Given the description of an element on the screen output the (x, y) to click on. 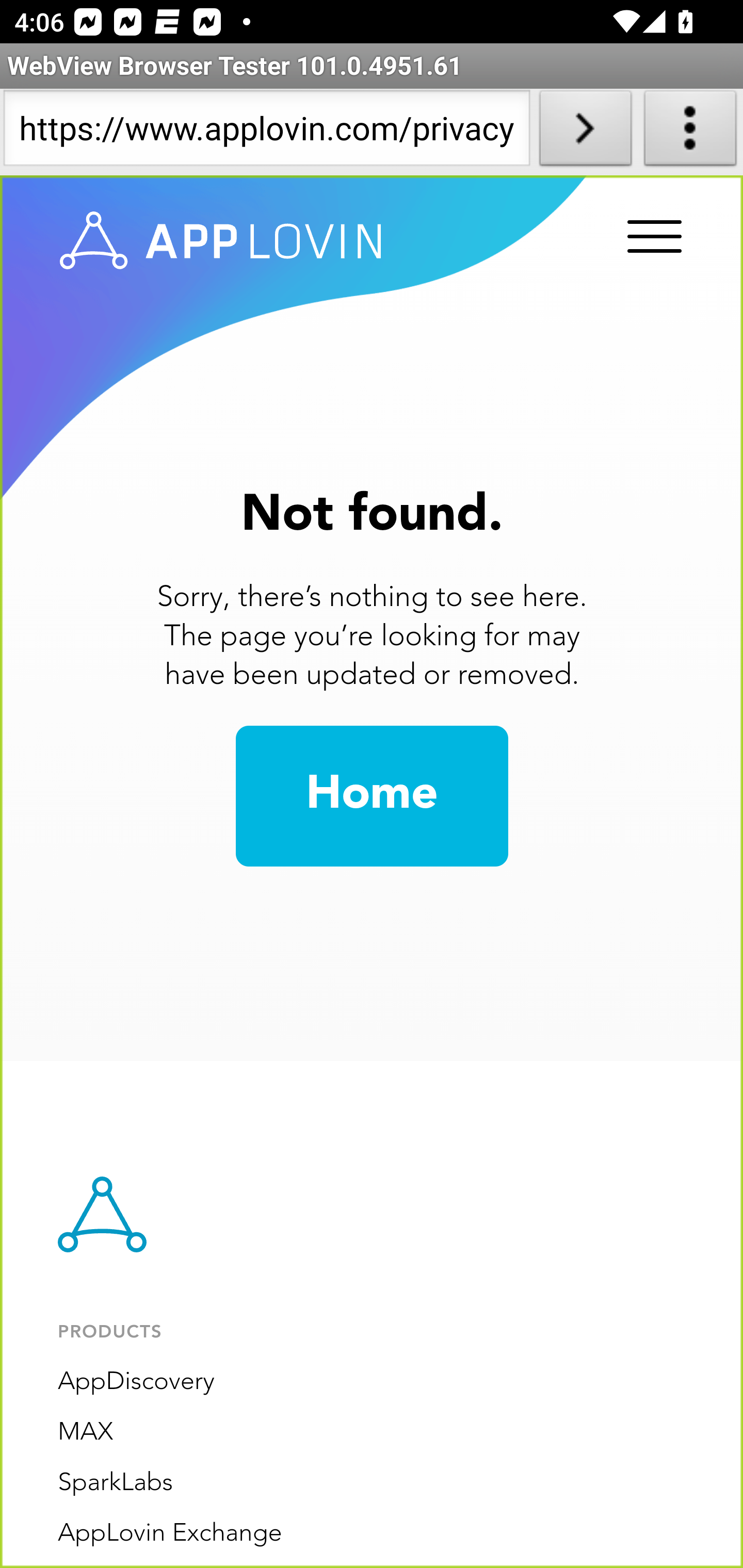
Load URL (585, 132)
About WebView (690, 132)
Menu Trigger (650, 237)
www.applovin (220, 241)
Home (371, 796)
AppDiscovery (135, 1381)
MAX (85, 1432)
SparkLabs (115, 1483)
AppLovin Exchange (170, 1533)
